Given the description of an element on the screen output the (x, y) to click on. 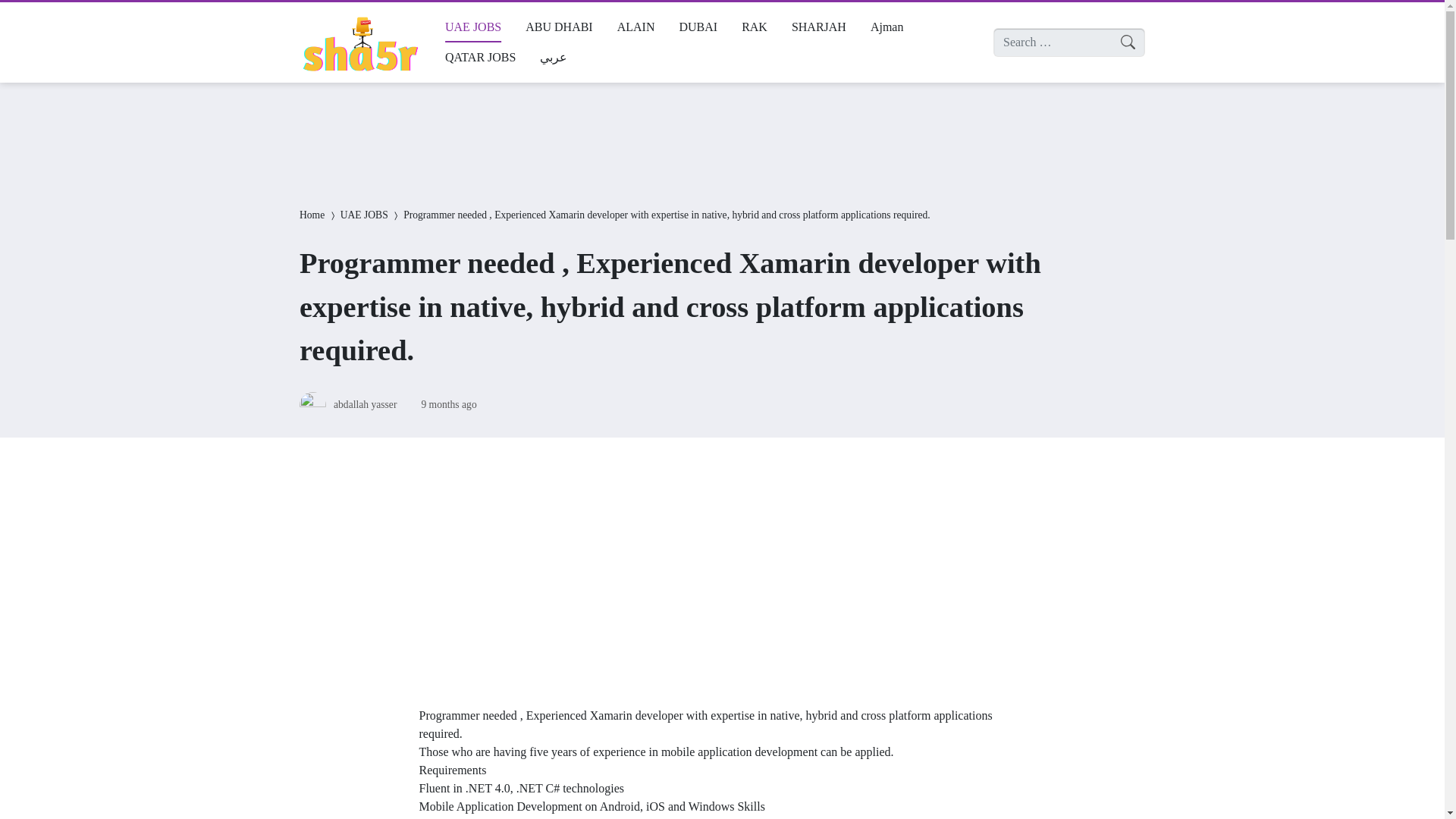
Home (311, 214)
ABU DHABI (558, 27)
RAK (753, 27)
UAE JOBS (364, 214)
sha5r (359, 42)
SHARJAH (818, 27)
QATAR JOBS (479, 57)
Search (26, 14)
Ajman (887, 27)
DUBAI (697, 27)
Show all posts by author (364, 404)
ALAIN (635, 27)
abdallah yasser (364, 404)
UAE JOBS (472, 27)
9 months ago (448, 404)
